Given the description of an element on the screen output the (x, y) to click on. 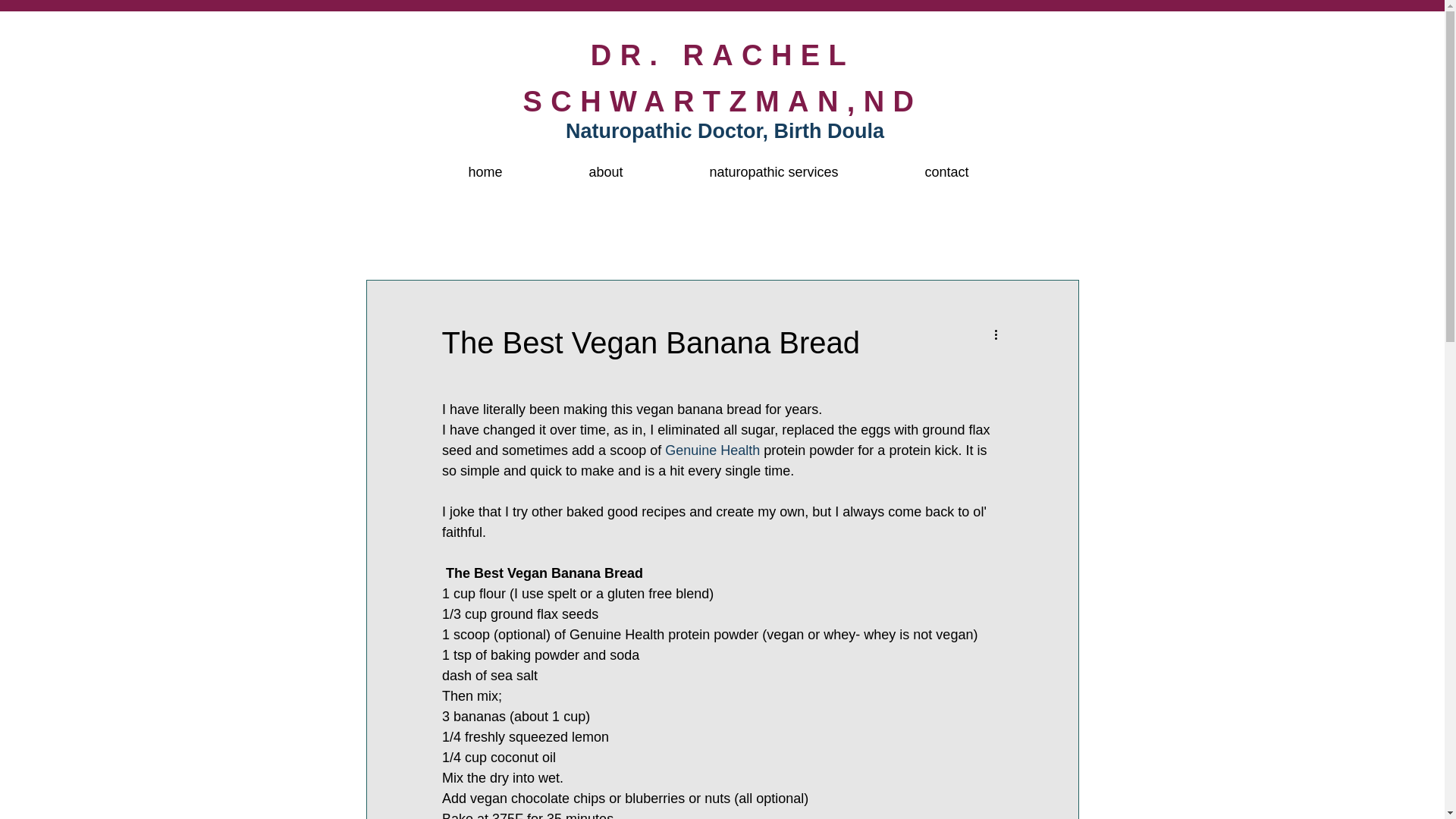
home (484, 165)
egg free (529, 233)
naturopathic services (772, 165)
All Posts (387, 233)
communal table (955, 233)
turmeric (864, 233)
about (606, 165)
Genuine Health (712, 450)
food sensitivity (616, 233)
DR. RACHEL SCHWARTZMAN,ND (722, 78)
